Given the description of an element on the screen output the (x, y) to click on. 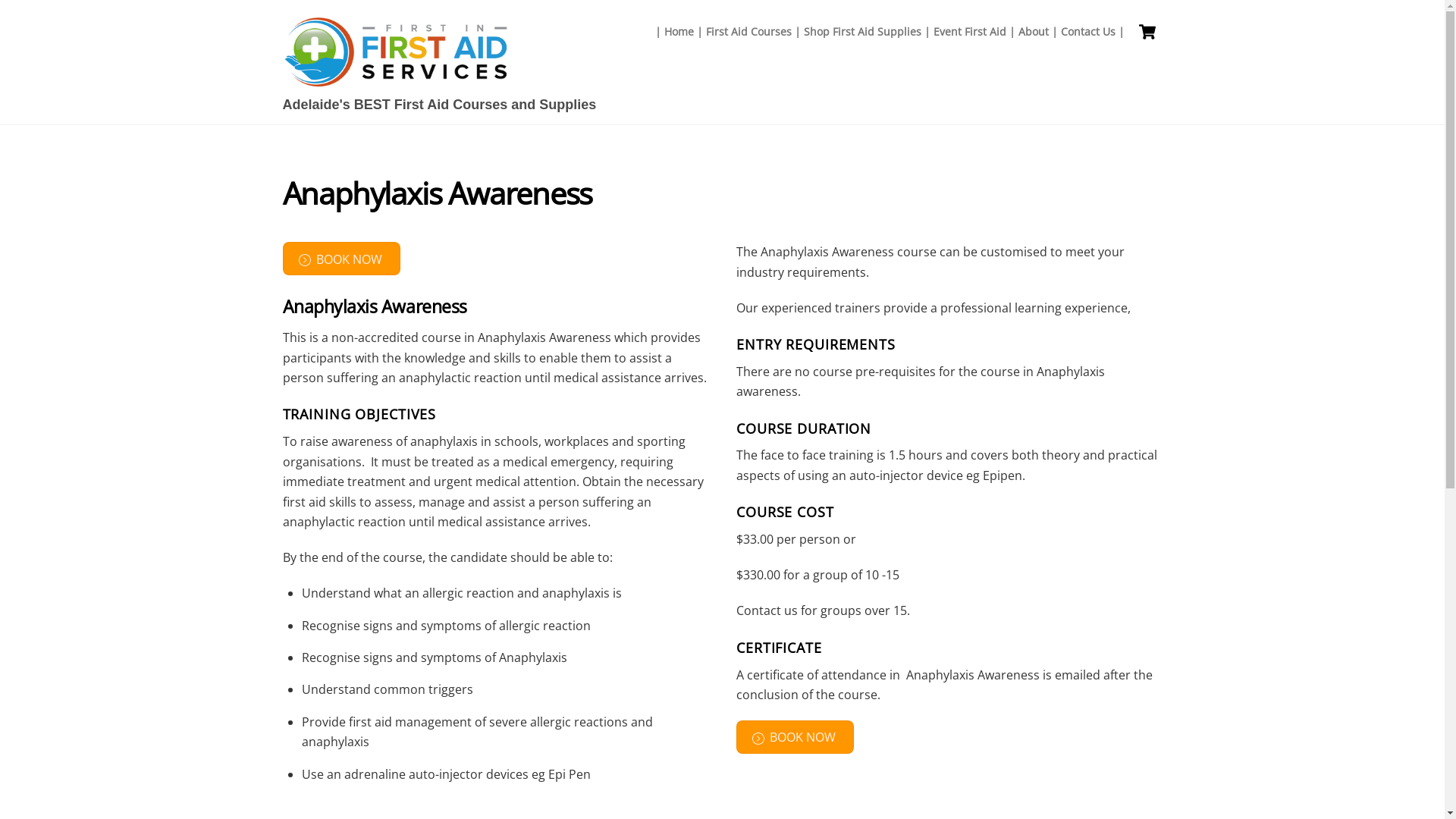
| Home | Element type: text (678, 31)
About | Element type: text (1037, 31)
First Aid Courses | Element type: text (752, 31)
FIFAS 800 Element type: hover (395, 51)
Event First Aid | Element type: text (973, 31)
Cart Element type: text (1146, 31)
BOOK NOW Element type: text (340, 258)
First in First Aid Services Element type: hover (395, 80)
Shop First Aid Supplies | Element type: text (866, 31)
Contact Us | Element type: text (1091, 31)
BOOK NOW Element type: text (794, 736)
